Given the description of an element on the screen output the (x, y) to click on. 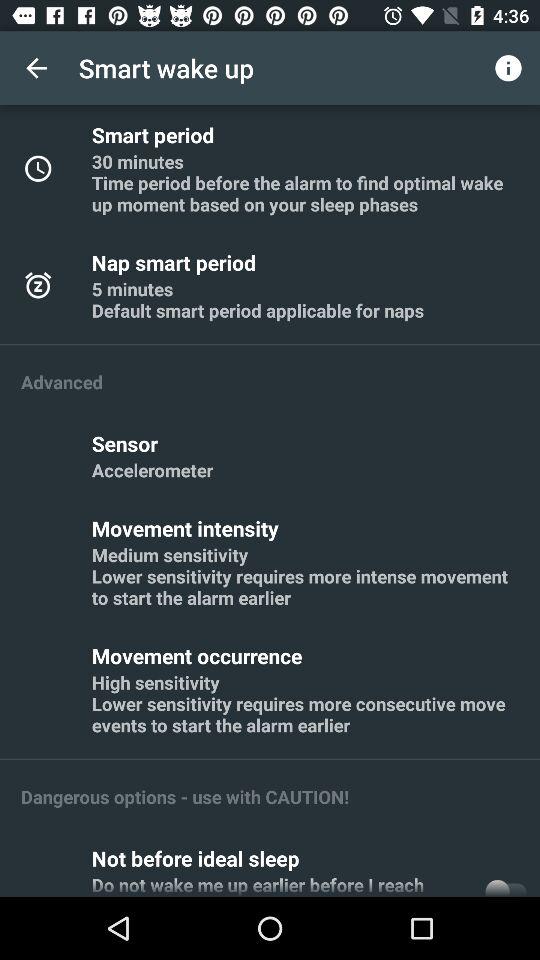
choose item above high sensitivity lower item (200, 655)
